Given the description of an element on the screen output the (x, y) to click on. 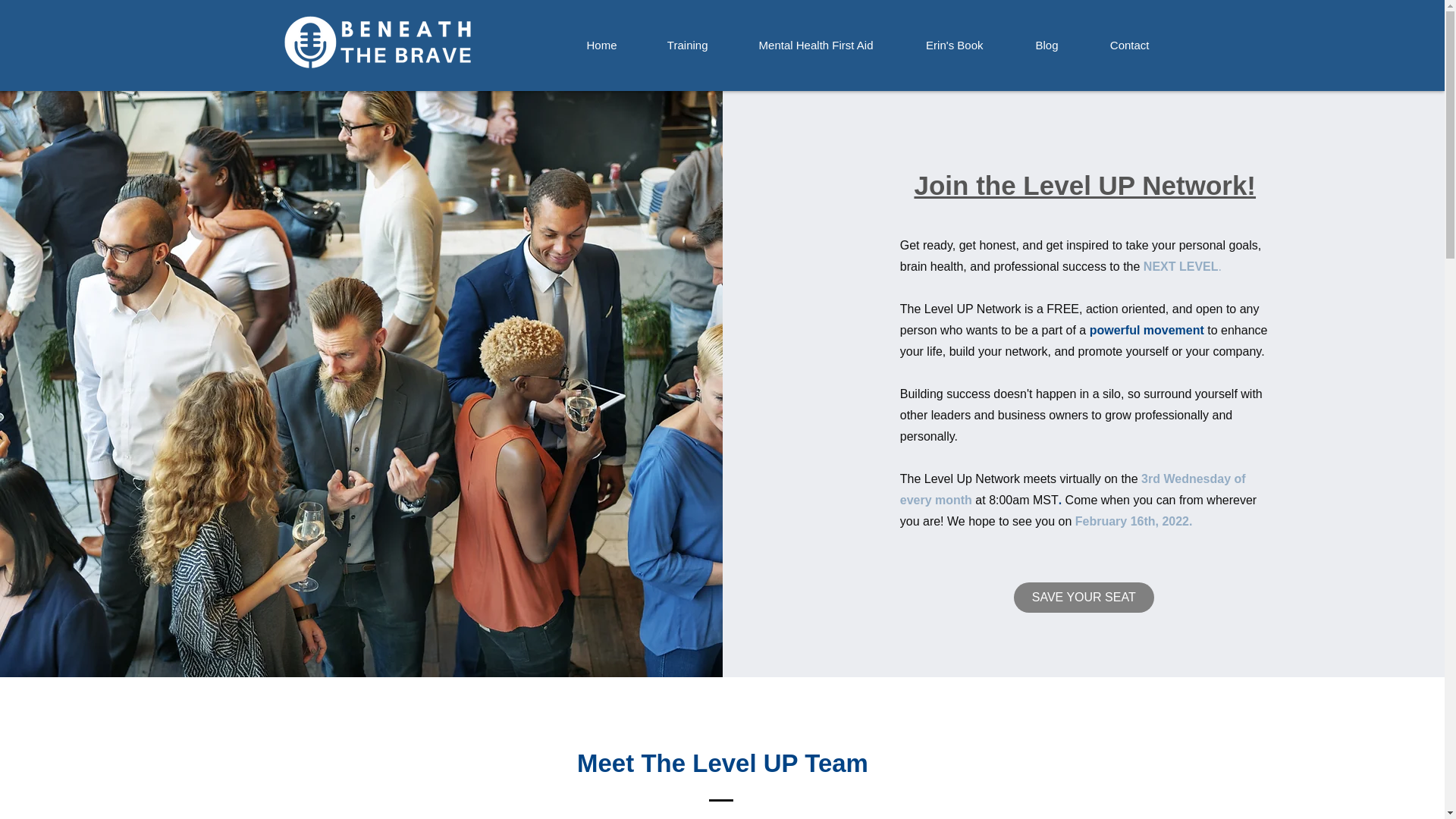
Contact (1111, 45)
Mental Health First Aid (798, 45)
SAVE YOUR SEAT (1083, 597)
Blog (1027, 45)
Join the Level UP Network! (1084, 184)
Home (582, 45)
Erin's Book (935, 45)
Training (670, 45)
